Given the description of an element on the screen output the (x, y) to click on. 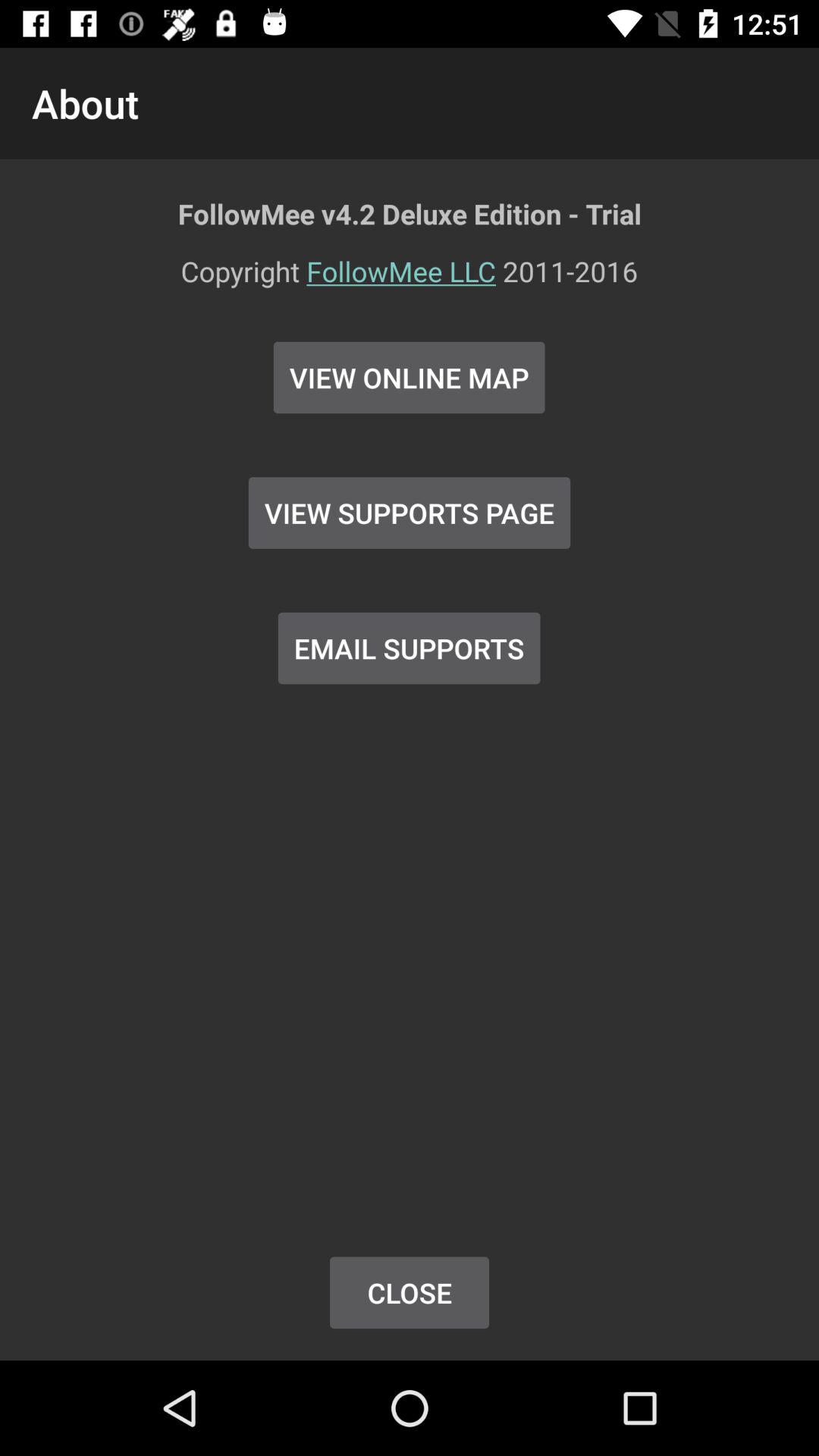
click the view supports page (409, 512)
